Given the description of an element on the screen output the (x, y) to click on. 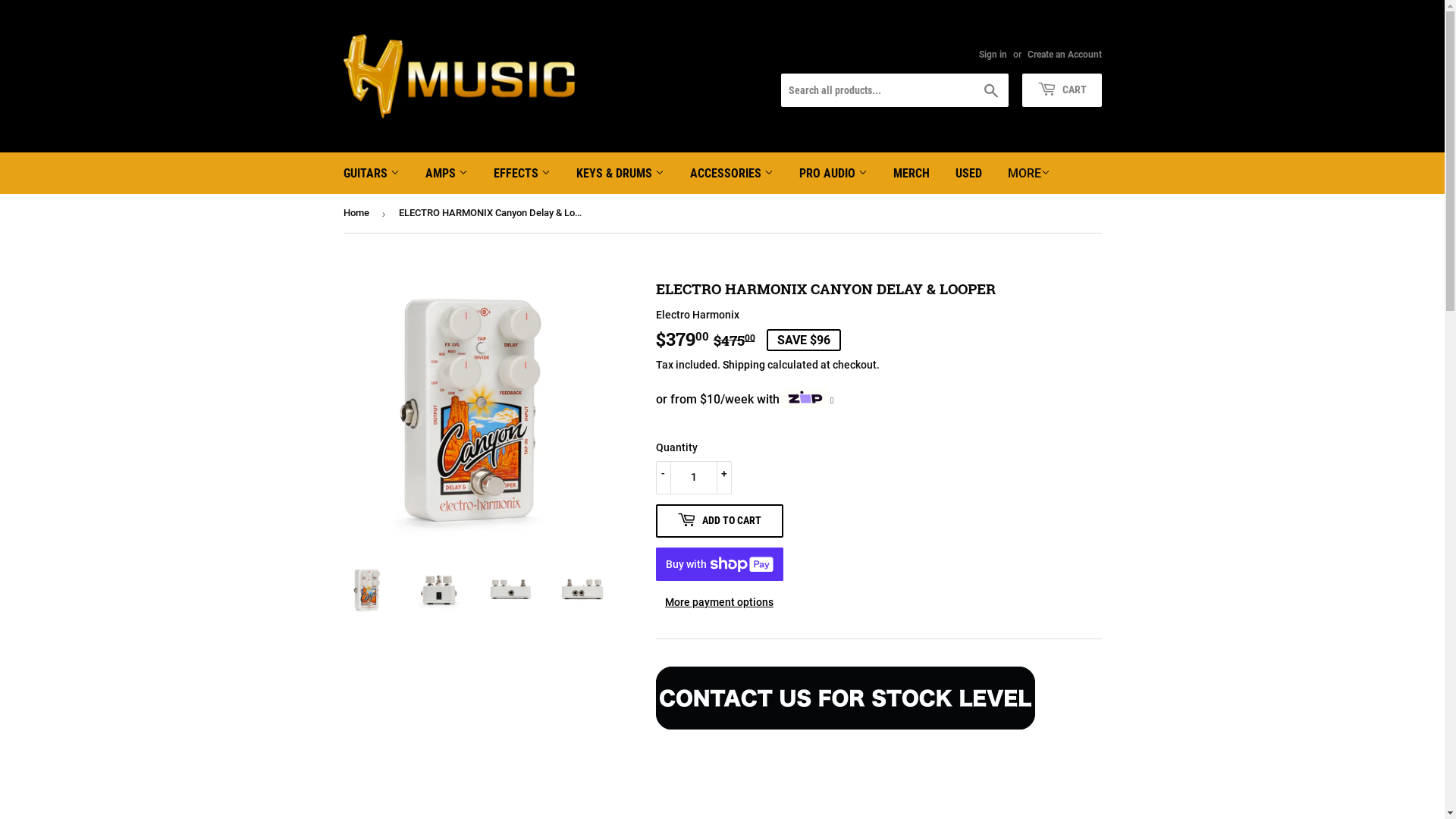
CART Element type: text (1061, 89)
AMPS Element type: text (446, 173)
PRO AUDIO Element type: text (832, 173)
USED Element type: text (967, 173)
ACCESSORIES Element type: text (730, 173)
Create an Account Element type: text (1063, 54)
MERCH Element type: text (910, 173)
KEYS & DRUMS Element type: text (619, 173)
More payment options Element type: text (718, 602)
Search Element type: text (990, 90)
Sign in Element type: text (992, 54)
Shipping Element type: text (742, 364)
Home Element type: text (357, 213)
MORE Element type: text (1028, 173)
ADD TO CART Element type: text (718, 520)
GUITARS Element type: text (371, 173)
EFFECTS Element type: text (521, 173)
